Given the description of an element on the screen output the (x, y) to click on. 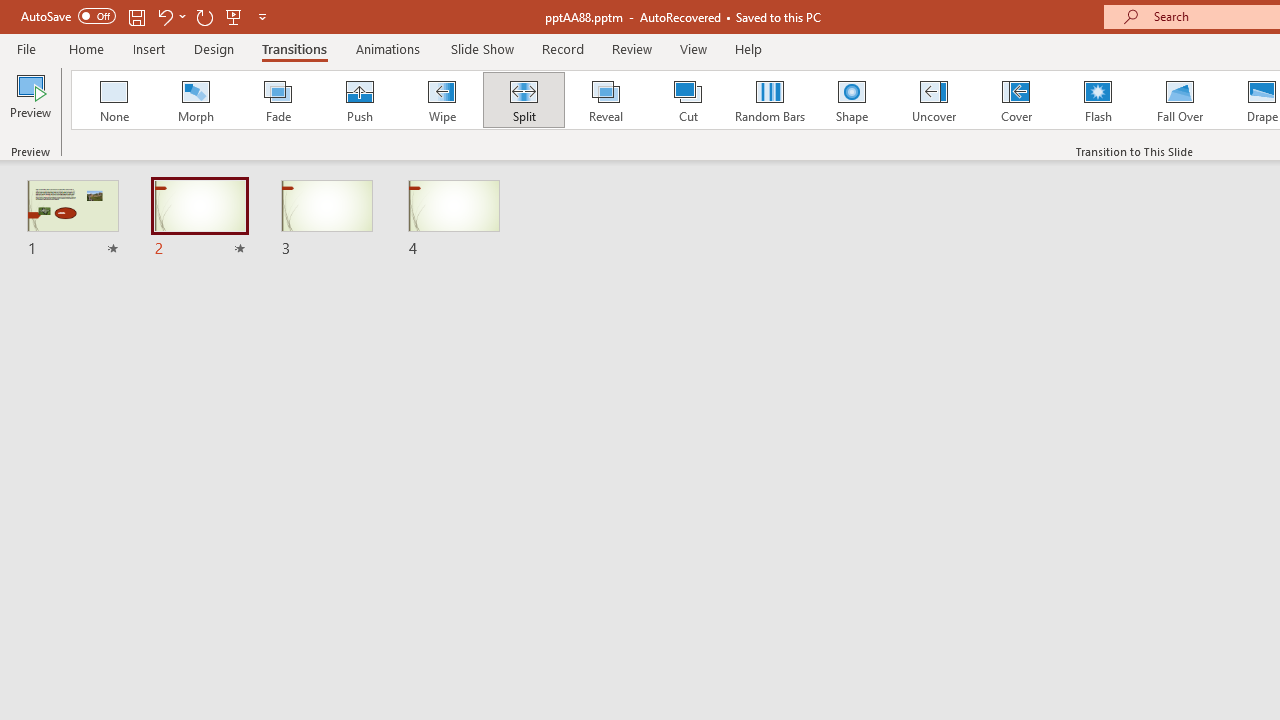
Split (523, 100)
Fall Over (1180, 100)
Flash (1098, 100)
Reveal (605, 100)
Random Bars (770, 100)
